Given the description of an element on the screen output the (x, y) to click on. 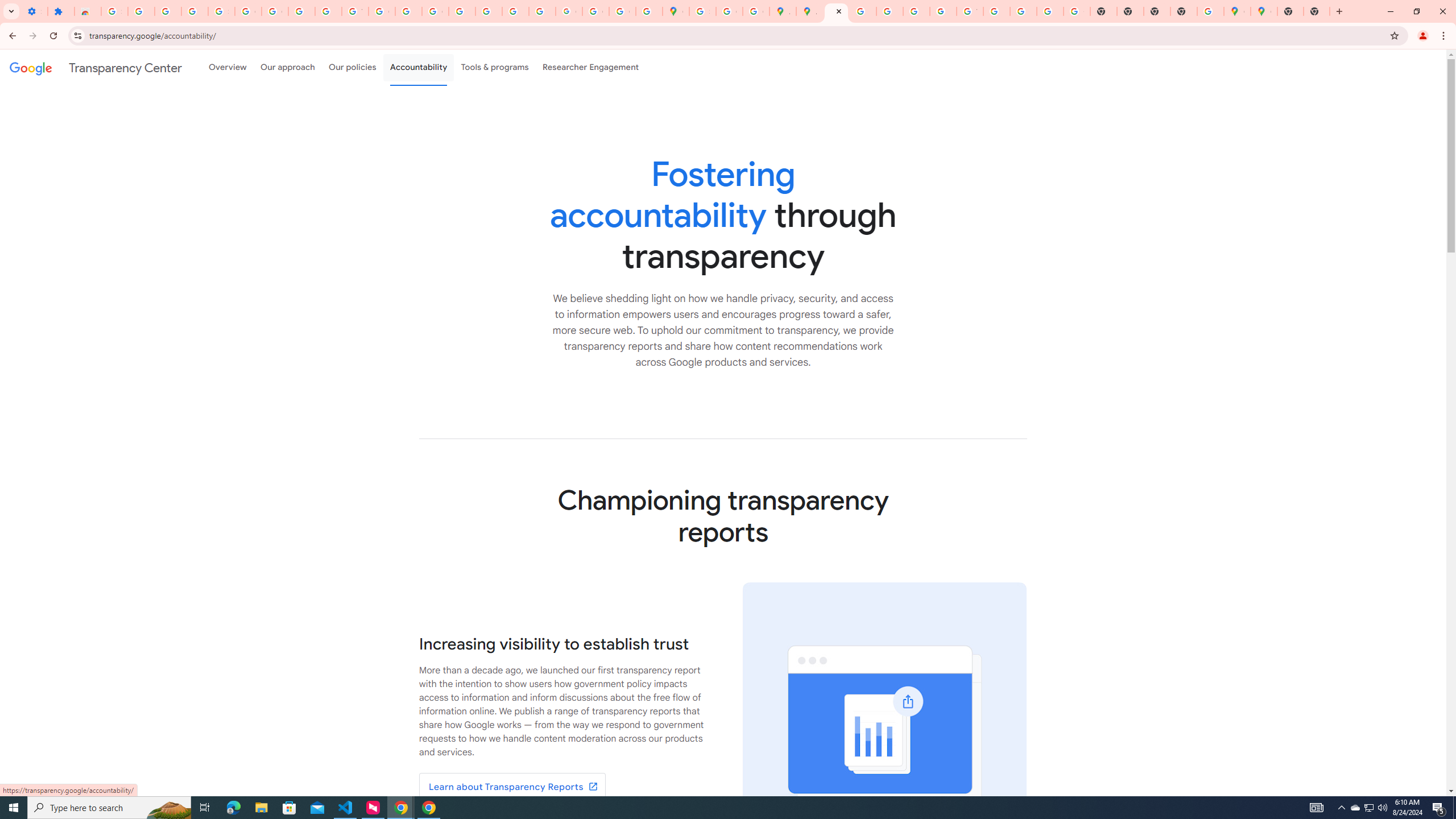
Privacy Help Center - Policies Help (462, 11)
Extensions (61, 11)
Google Maps (1236, 11)
Google Maps (1263, 11)
Google Maps (676, 11)
Policy Accountability and Transparency - Transparency Center (836, 11)
Privacy Help Center - Policies Help (889, 11)
